Given the description of an element on the screen output the (x, y) to click on. 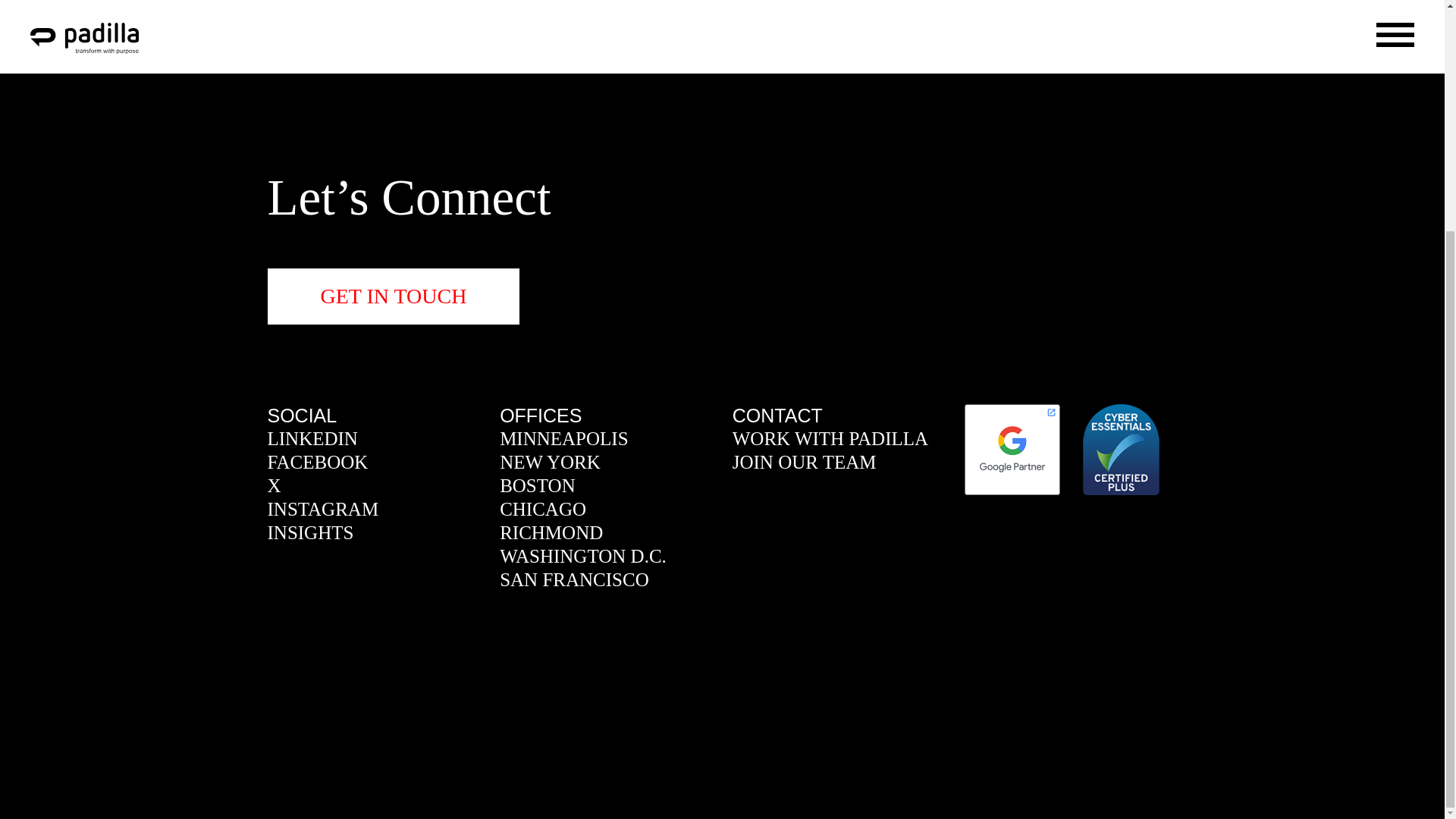
WASHINGTON D.C. (582, 556)
GET IN TOUCH (392, 296)
SAN FRANCISCO (574, 579)
NEW YORK (549, 462)
BOSTON (537, 486)
INSIGHTS (309, 532)
JOIN OUR TEAM (804, 462)
RICHMOND (550, 532)
LINKEDIN (311, 438)
MINNEAPOLIS (563, 438)
FACEBOOK (317, 462)
WORK WITH PADILLA (830, 438)
CHICAGO (542, 508)
INSTAGRAM (322, 508)
